Given the description of an element on the screen output the (x, y) to click on. 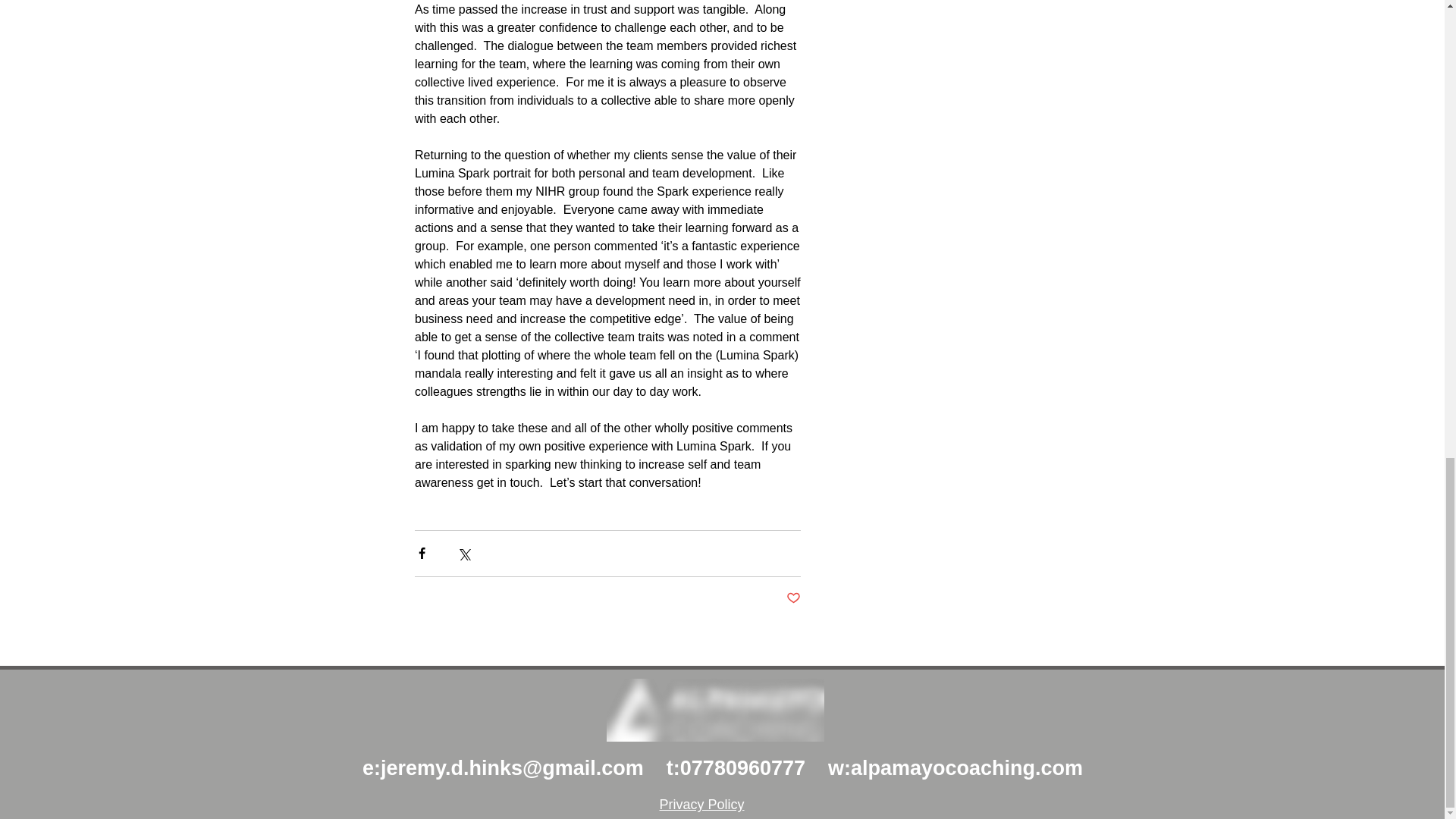
Privacy Policy (701, 804)
Post not marked as liked (792, 598)
